Given the description of an element on the screen output the (x, y) to click on. 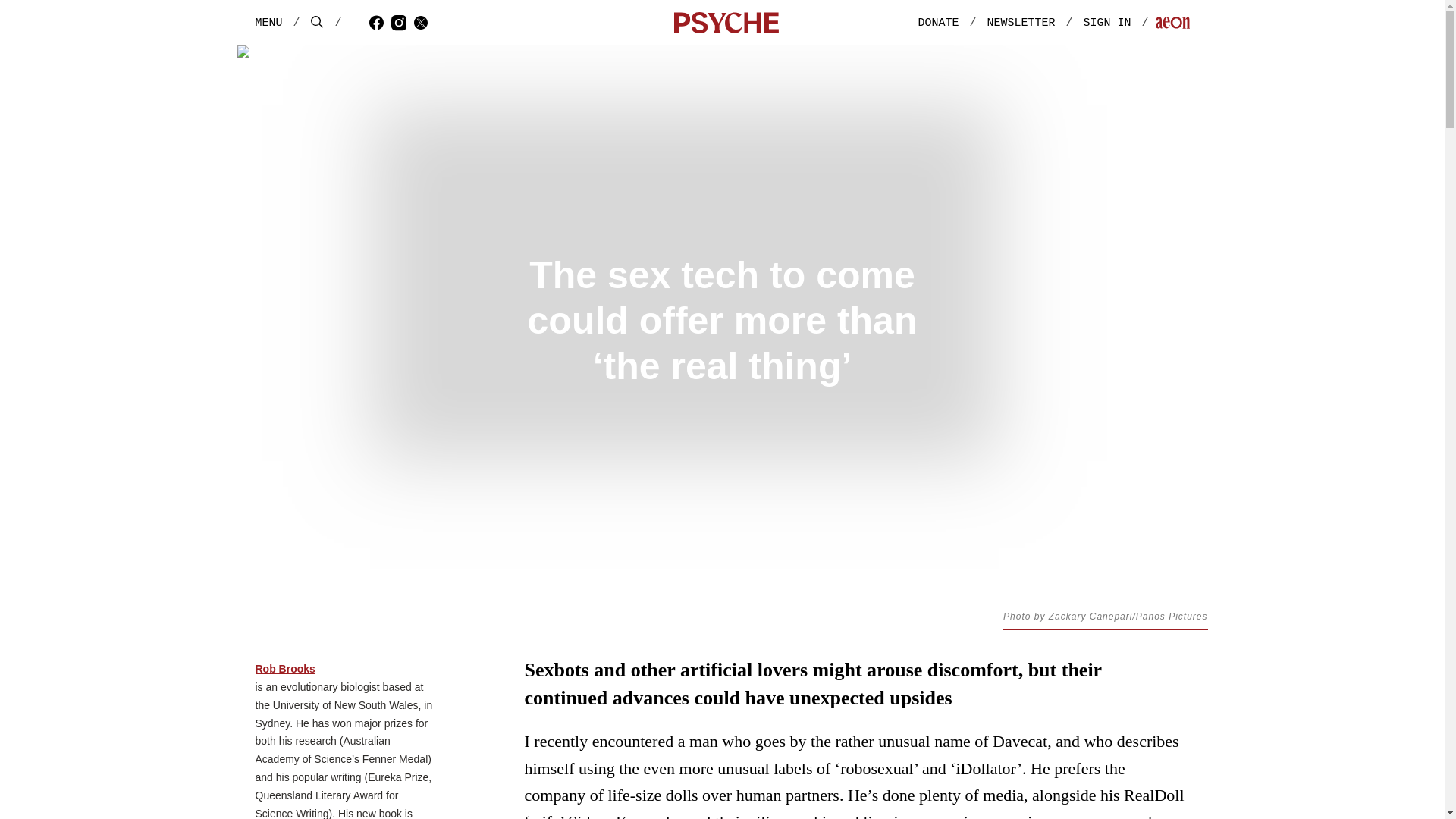
Aeon (1172, 24)
Sign in (1120, 23)
DONATE (937, 23)
Rob Brooks (284, 669)
